Given the description of an element on the screen output the (x, y) to click on. 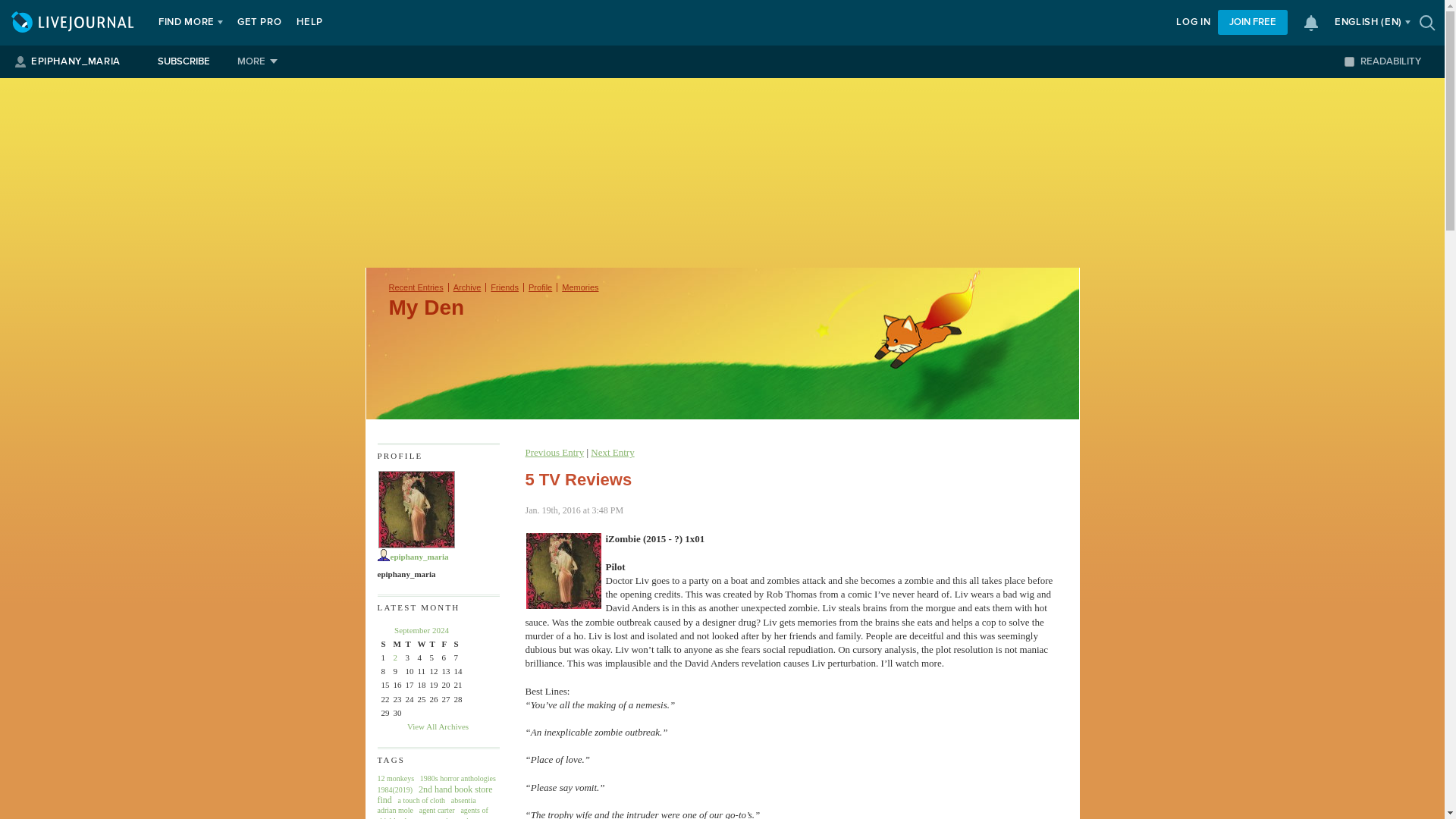
Friends (504, 286)
on (1348, 61)
JOIN FREE (1252, 22)
MORE (257, 61)
Recent Entries (415, 286)
Archive (466, 286)
HELP (309, 22)
Profile (539, 286)
SUBSCRIBE (183, 61)
GET PRO (259, 22)
